Given the description of an element on the screen output the (x, y) to click on. 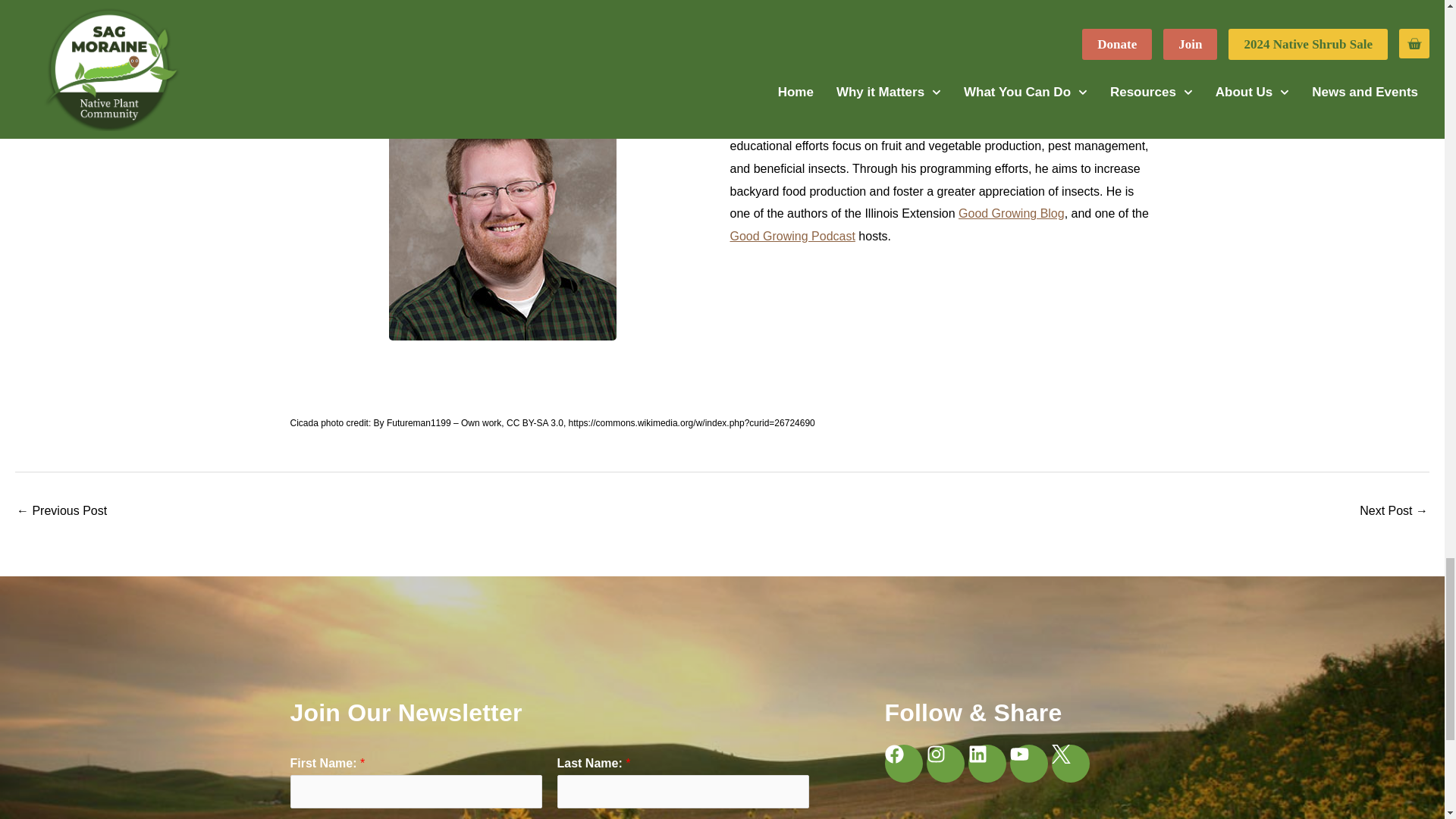
Ambassador Training (61, 511)
Oaklawn Resident (1393, 511)
